Given the description of an element on the screen output the (x, y) to click on. 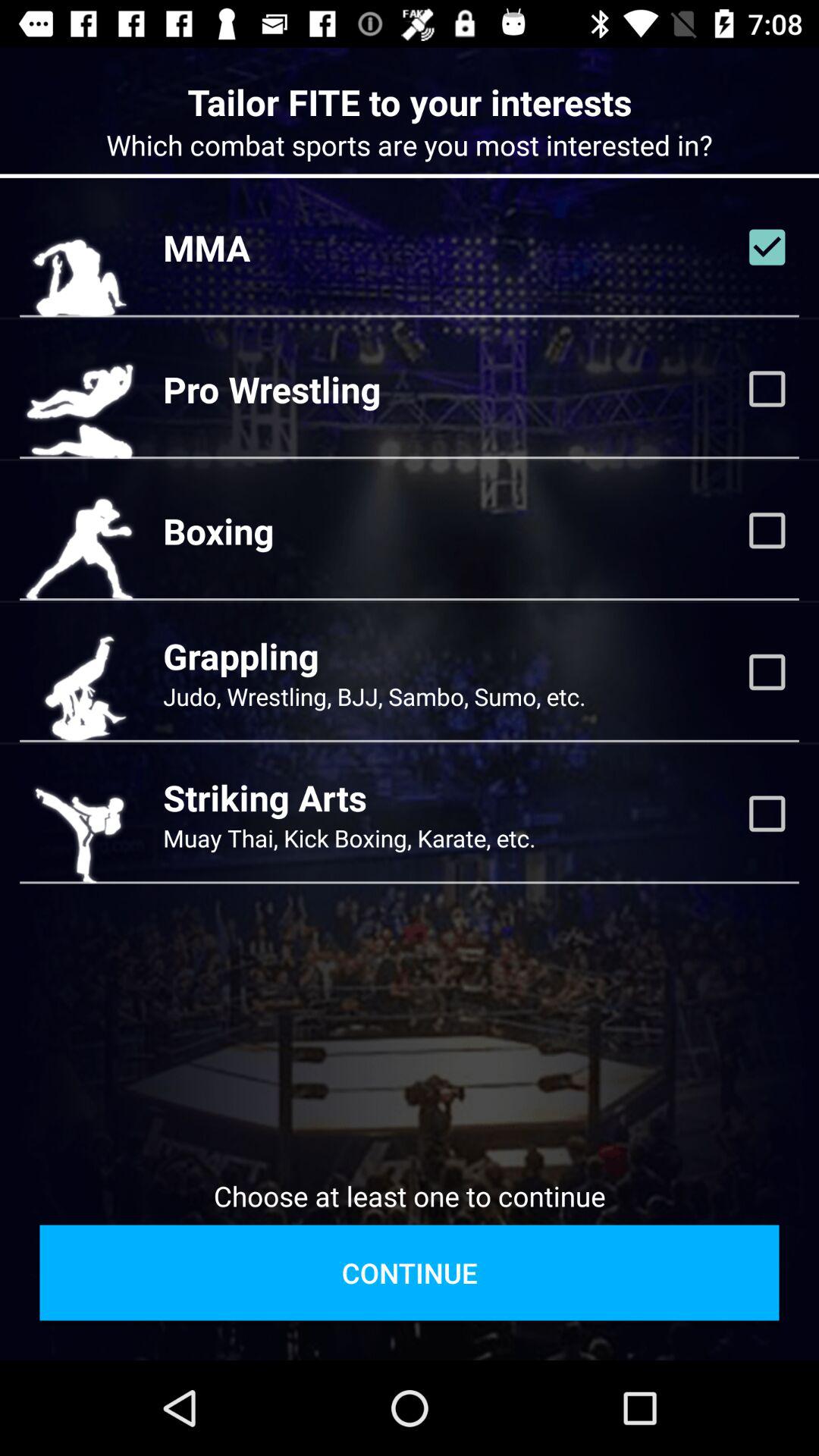
select sport (767, 247)
